Given the description of an element on the screen output the (x, y) to click on. 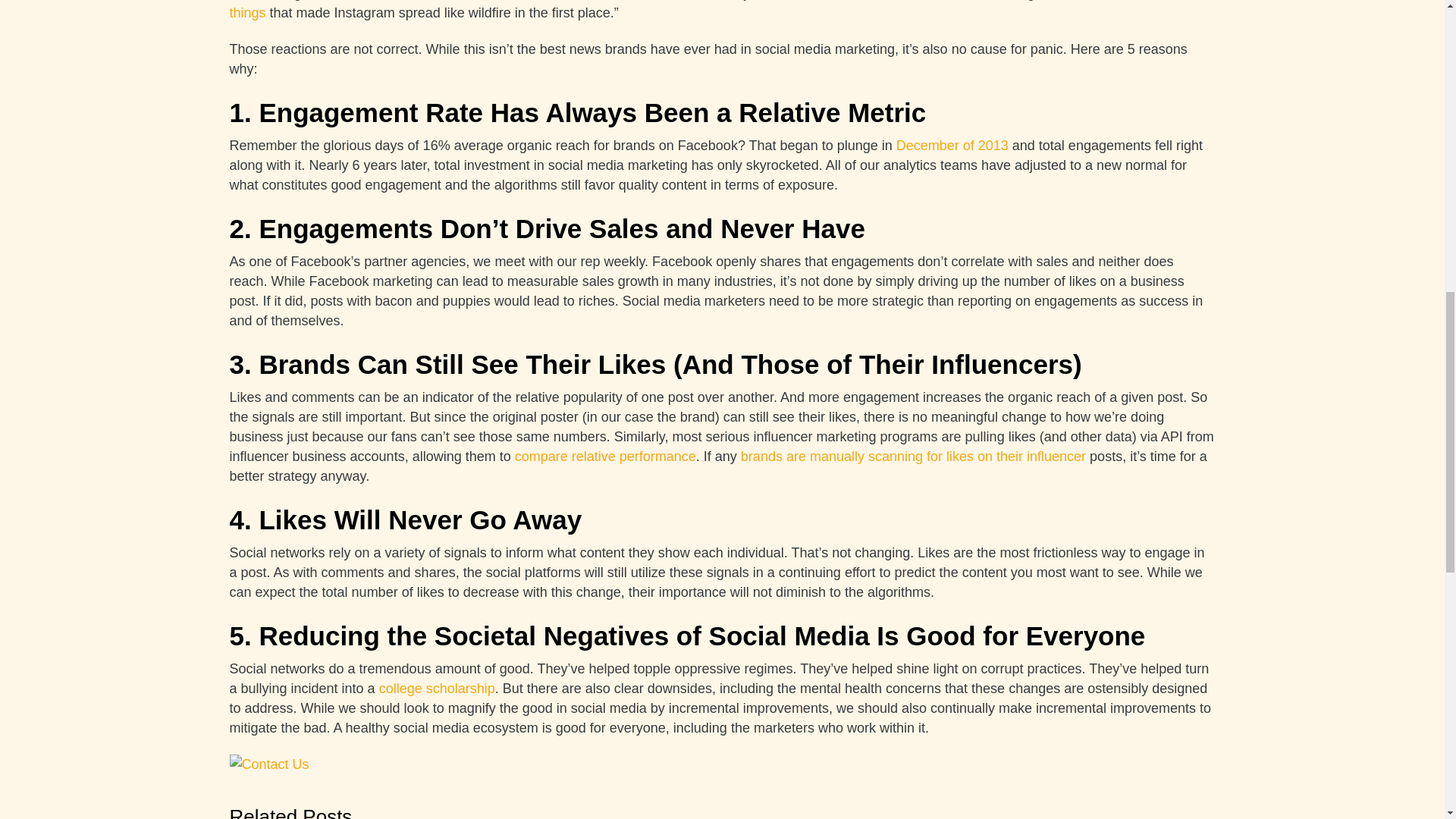
December of 2013 (952, 145)
deviate from the core things (706, 10)
